Given the description of an element on the screen output the (x, y) to click on. 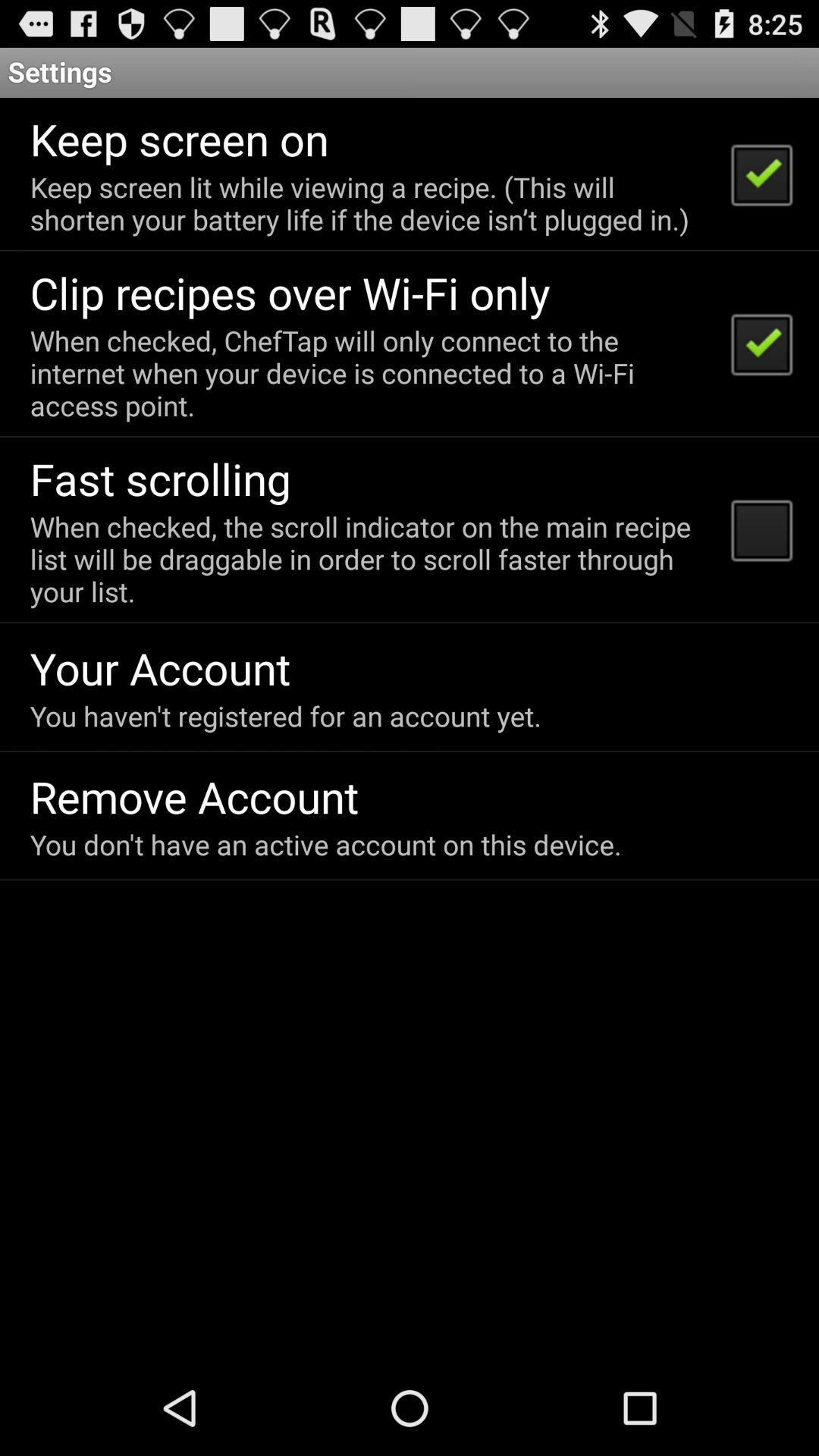
select the clip recipes over app (289, 292)
